Given the description of an element on the screen output the (x, y) to click on. 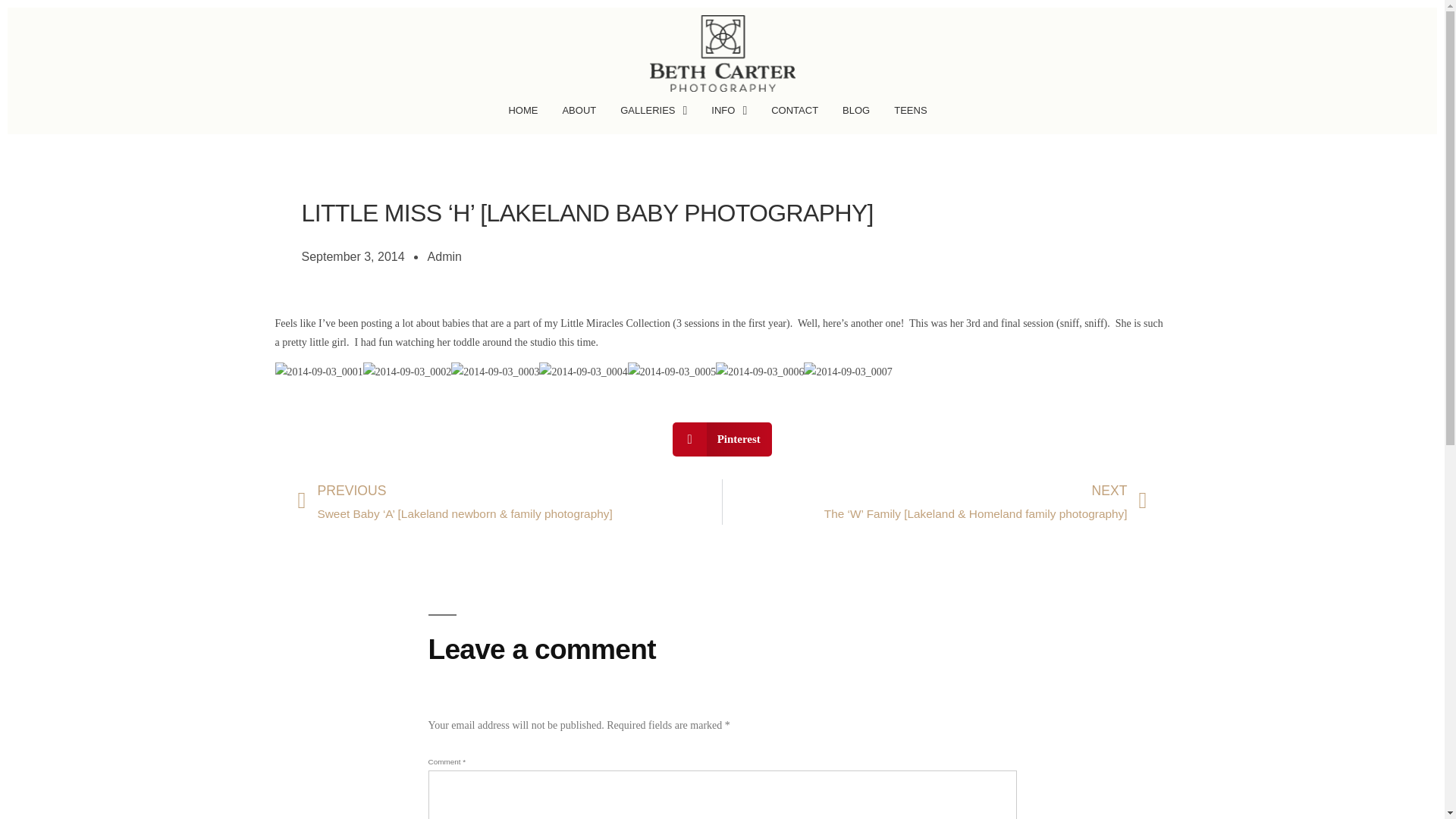
Admin (444, 257)
September 3, 2014 (352, 257)
CONTACT (798, 114)
ABOUT (583, 114)
TEENS (914, 114)
HOME (527, 114)
GALLERIES (657, 114)
BLOG (860, 114)
INFO (732, 114)
